Given the description of an element on the screen output the (x, y) to click on. 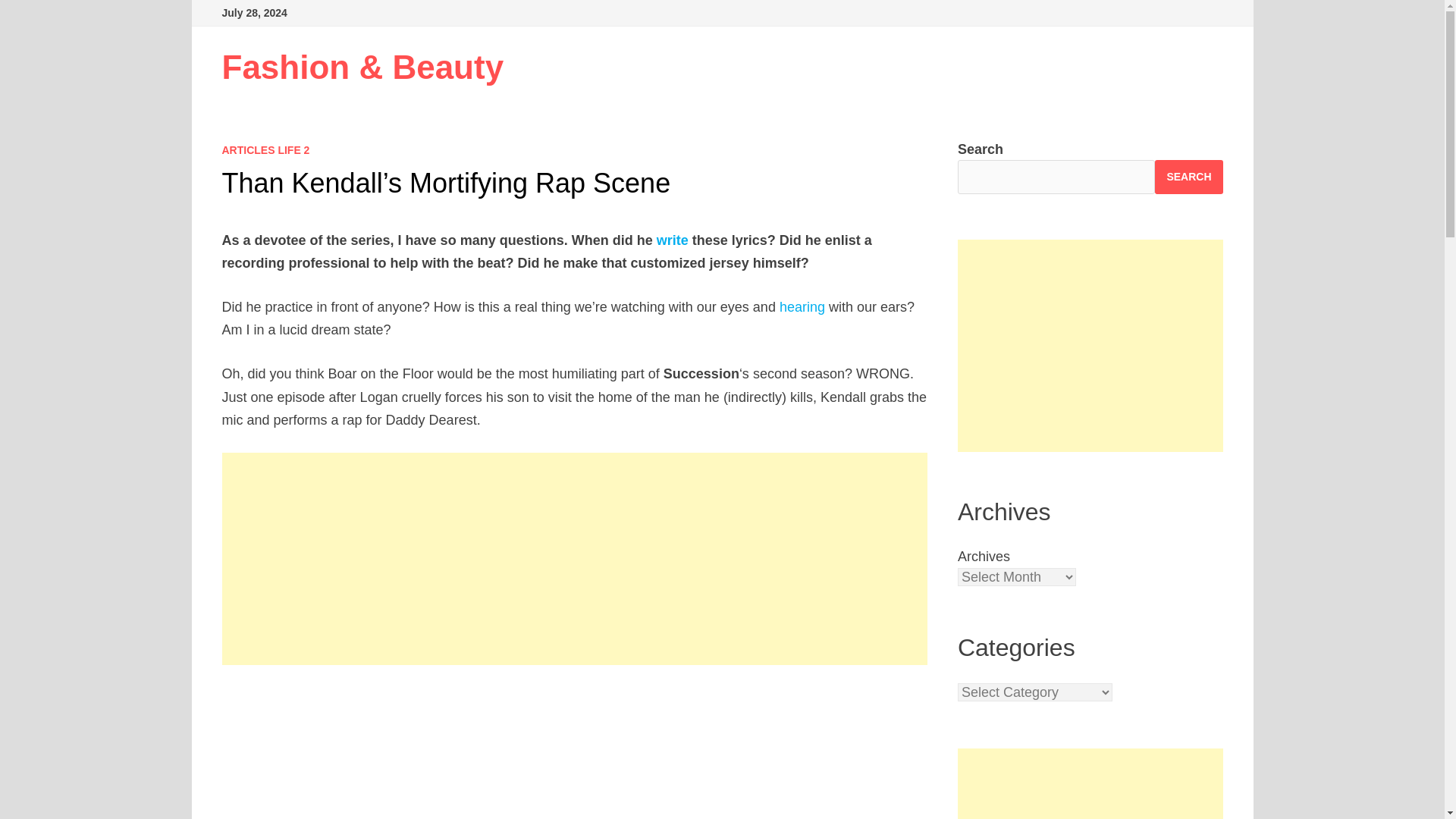
write (672, 240)
ARTICLES LIFE 2 (264, 150)
Advertisement (1090, 783)
Advertisement (574, 752)
hearing (801, 306)
Advertisement (1090, 345)
SEARCH (1188, 176)
